Given the description of an element on the screen output the (x, y) to click on. 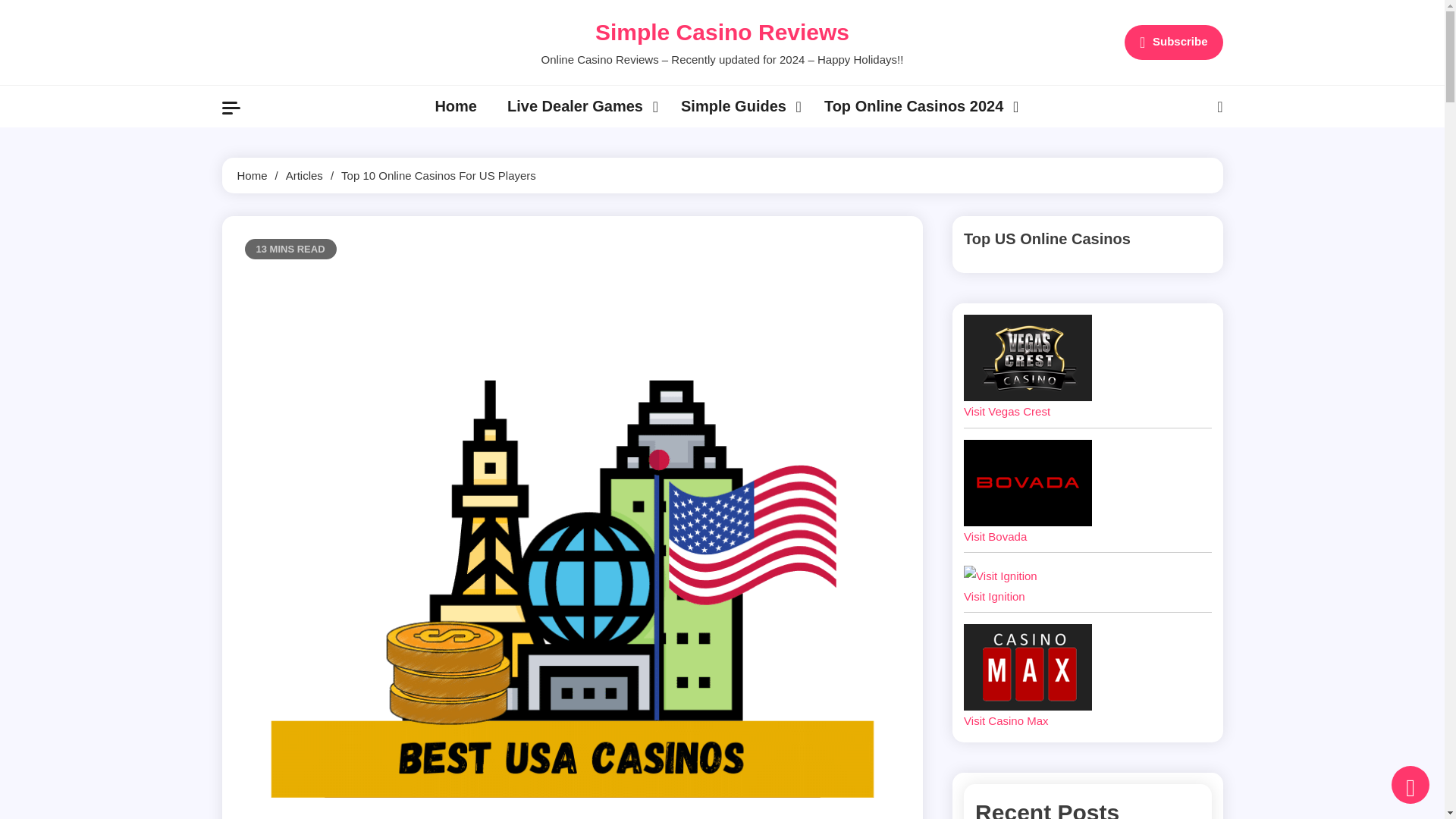
Simple Guides (737, 106)
Vegas Crest Casino (1027, 357)
Visit Casino Max (1027, 667)
Visit Bovada Casino (1027, 482)
Top Online Casinos 2024 (917, 106)
Live Dealer Games (578, 106)
Visit Ignition (999, 575)
Subscribe (1173, 42)
Home (455, 106)
Simple Casino Reviews (721, 32)
